Given the description of an element on the screen output the (x, y) to click on. 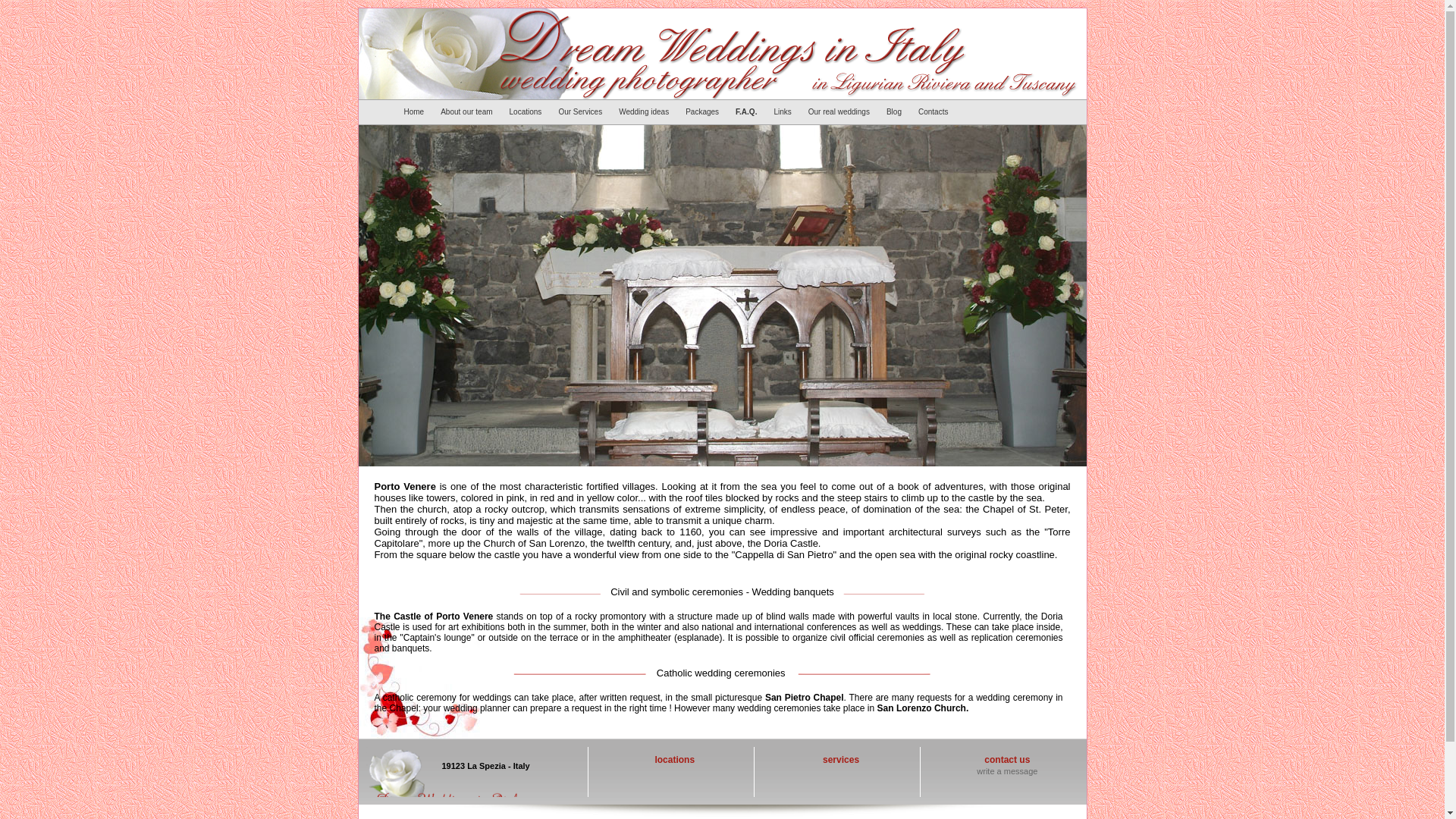
Home (415, 111)
Links (784, 111)
Locations (528, 111)
Blog (896, 111)
write a message (1006, 770)
Wedding ideas (645, 111)
F.A.Q. (748, 111)
Our real weddings (841, 111)
Packages (704, 111)
About our team (467, 111)
